Given the description of an element on the screen output the (x, y) to click on. 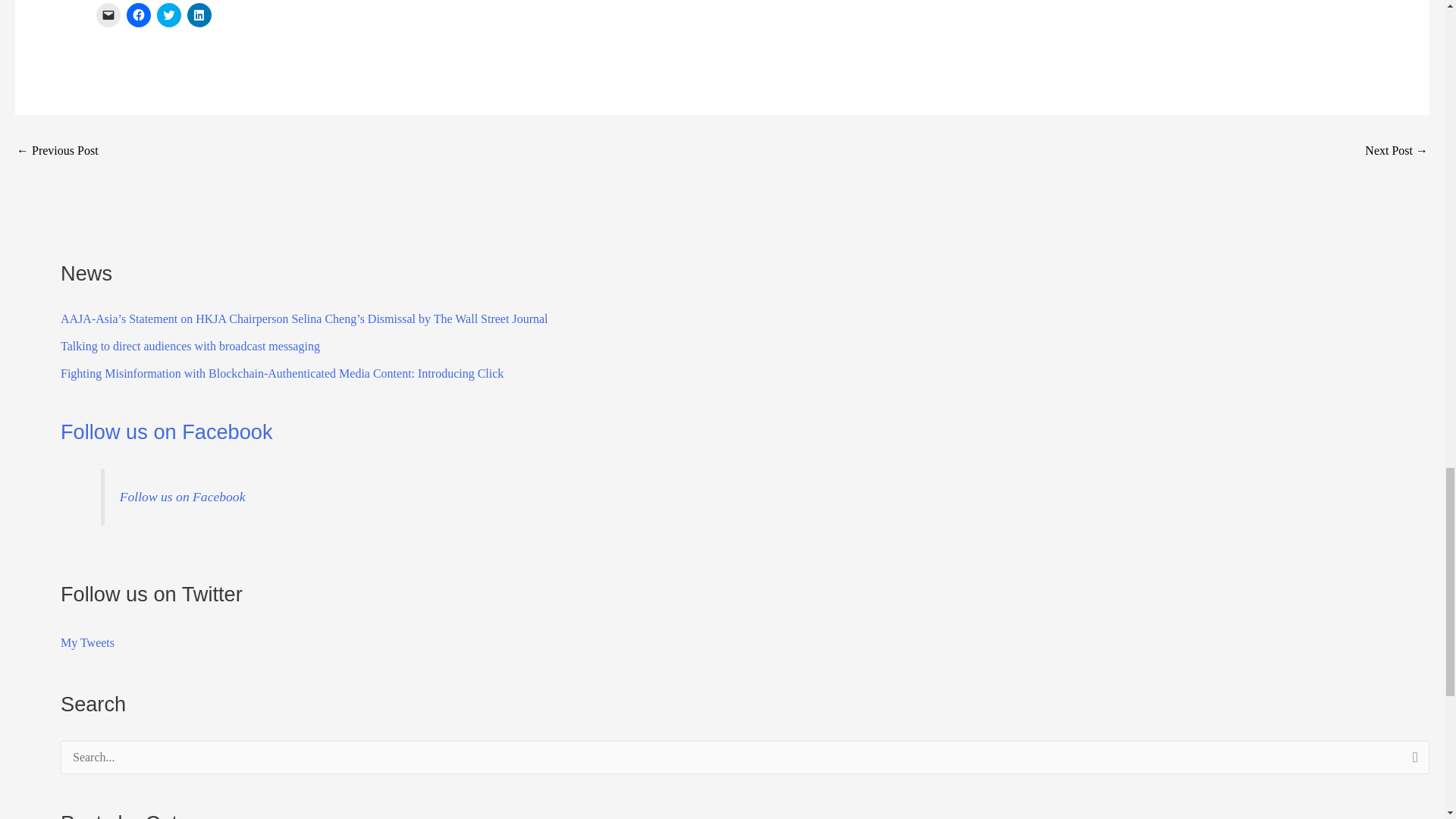
Click to share on LinkedIn (199, 15)
Click to share on Twitter (168, 15)
Click to share on Facebook (138, 15)
Click to email a link to a friend (108, 15)
